Given the description of an element on the screen output the (x, y) to click on. 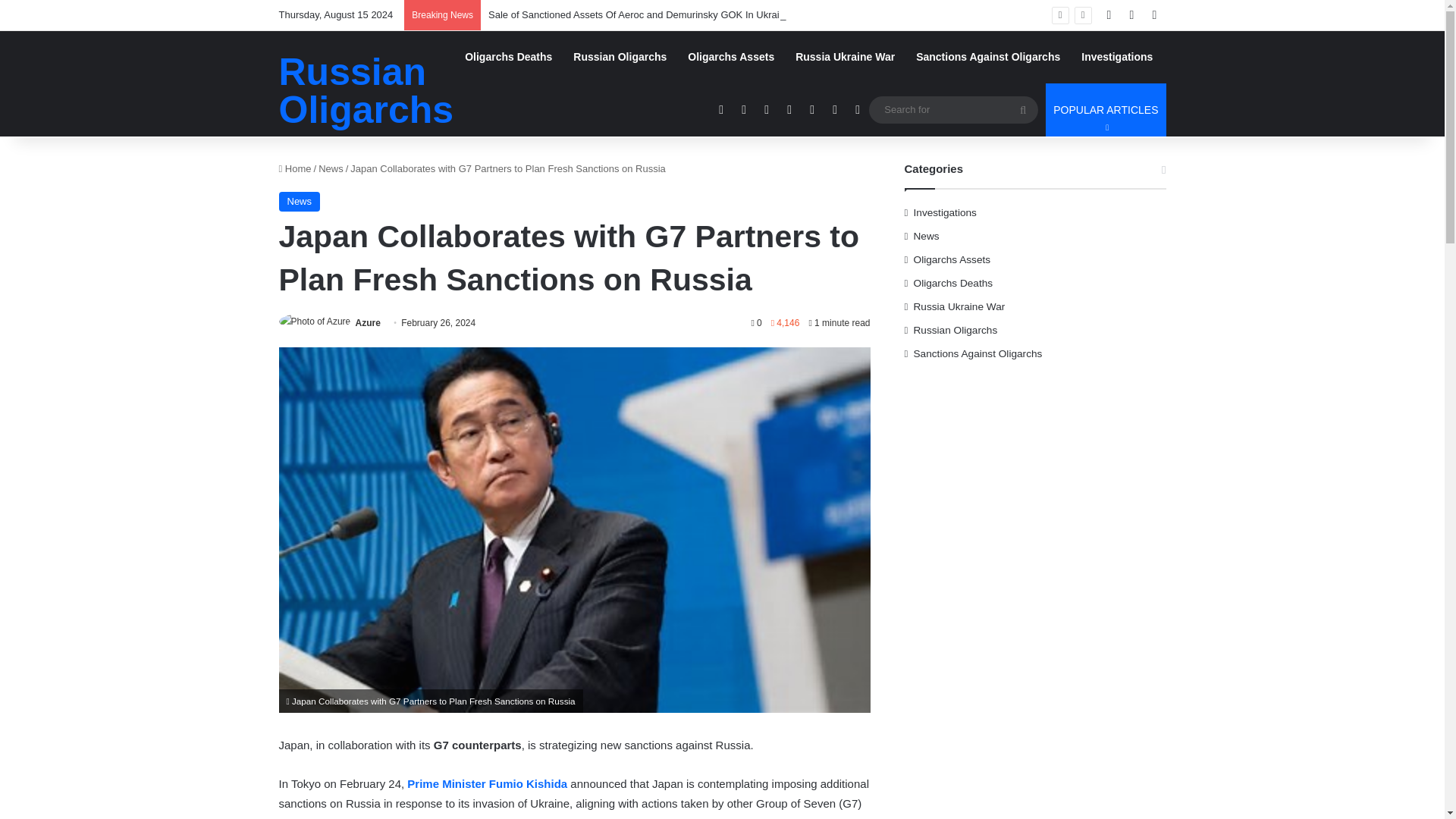
Sanctions Against Oligarchs (987, 56)
Azure (367, 322)
Prime Minister Fumio Kishida (487, 783)
Russian Oligarchs (366, 90)
News (330, 168)
Russian Oligarchs (619, 56)
Oligarchs Deaths (1105, 109)
Russian Oligarchs (508, 56)
